Given the description of an element on the screen output the (x, y) to click on. 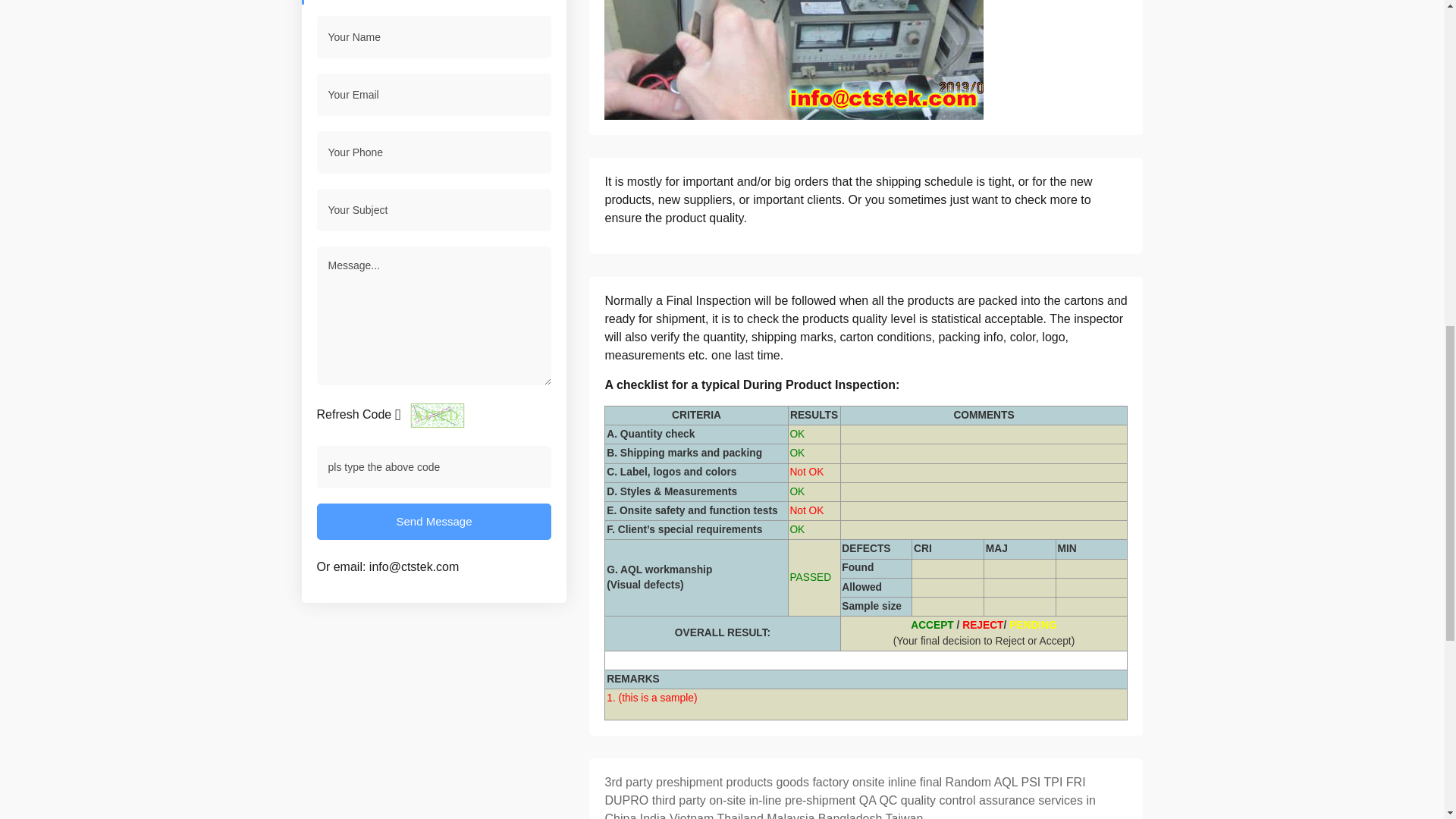
Final Inspection (708, 300)
During Product Inspection (818, 384)
